Given the description of an element on the screen output the (x, y) to click on. 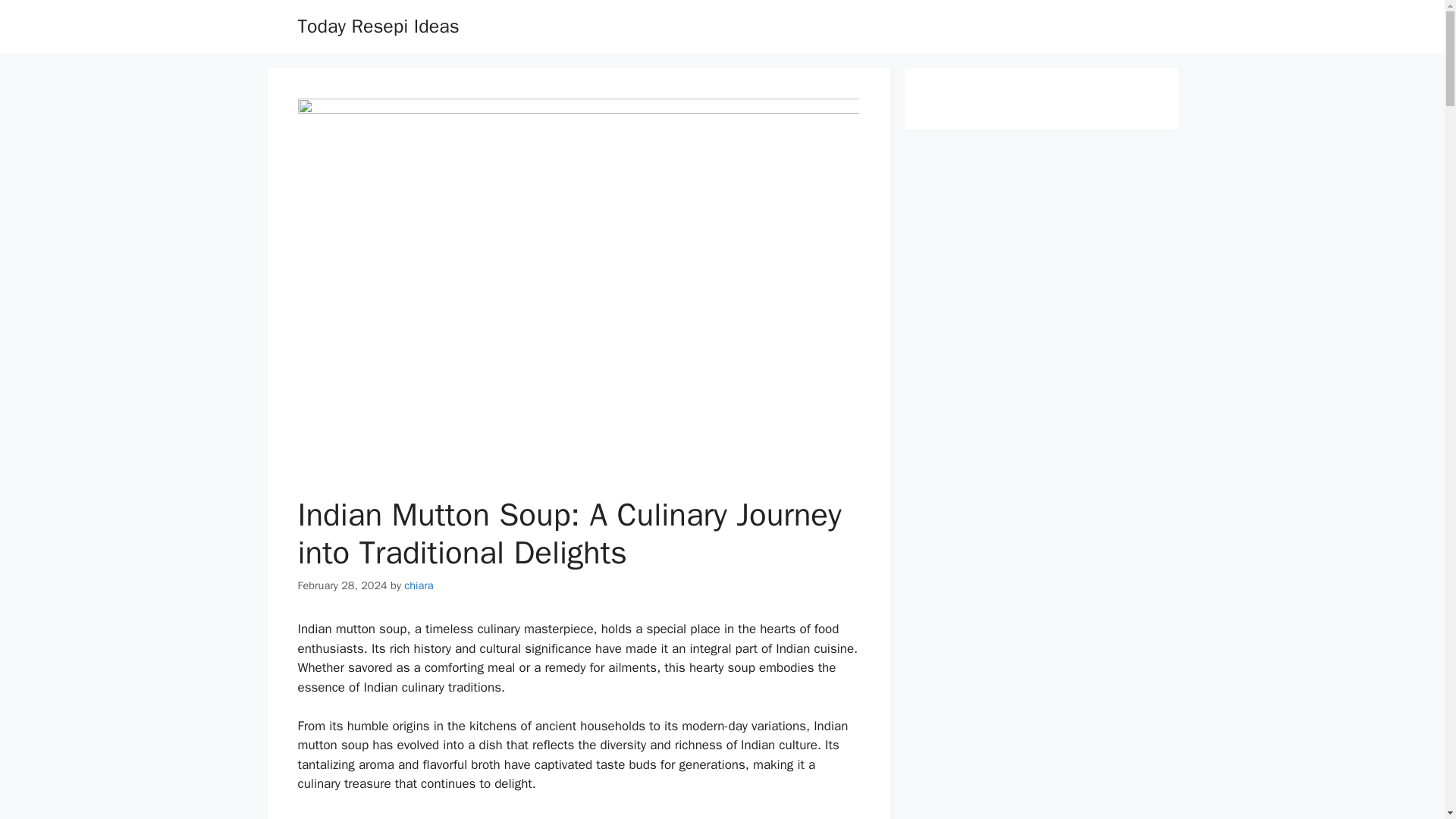
Today Resepi Ideas (377, 25)
View all posts by chiara (418, 585)
chiara (418, 585)
